Given the description of an element on the screen output the (x, y) to click on. 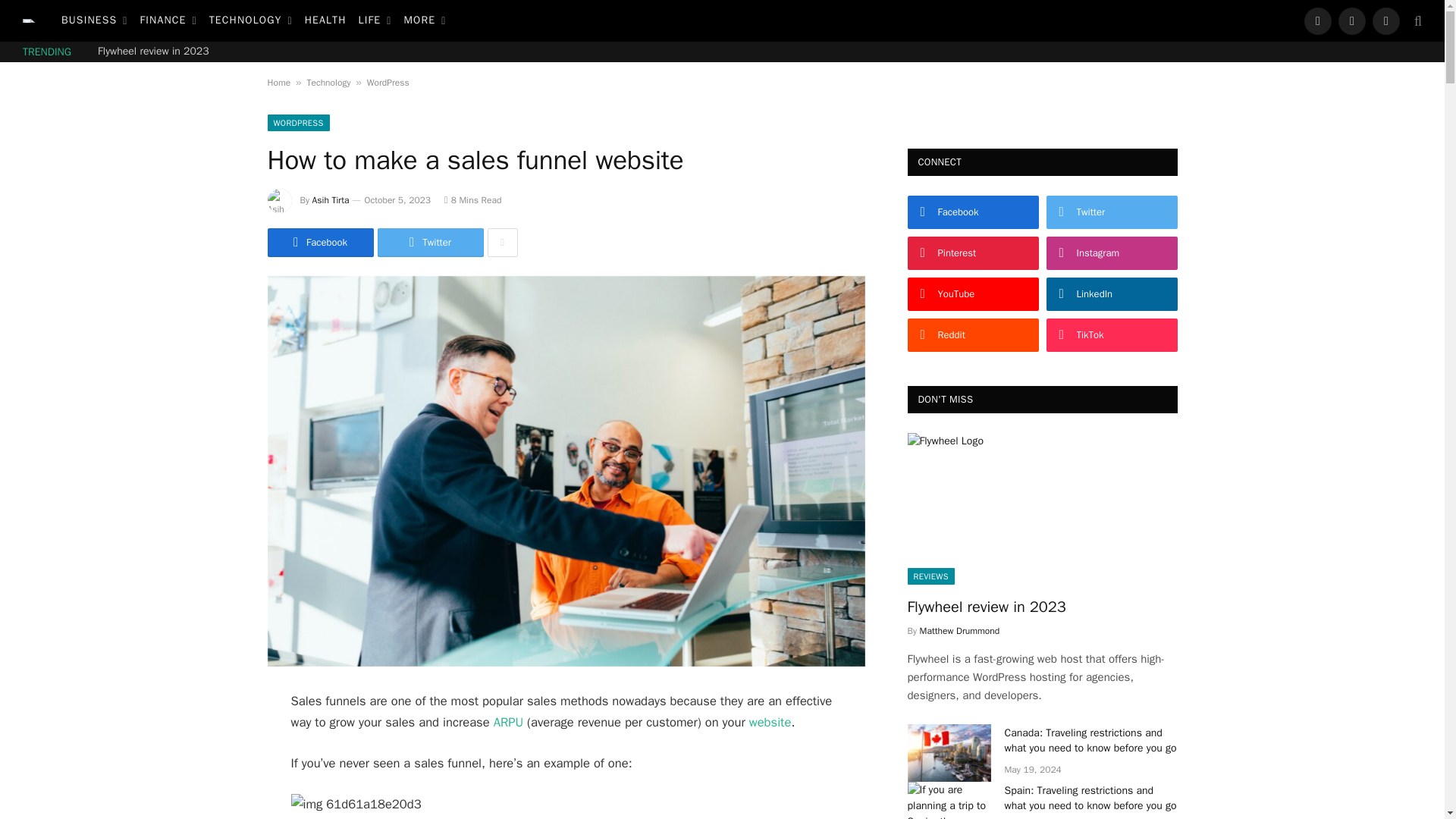
FINANCE (168, 20)
BUSINESS (94, 20)
